Given the description of an element on the screen output the (x, y) to click on. 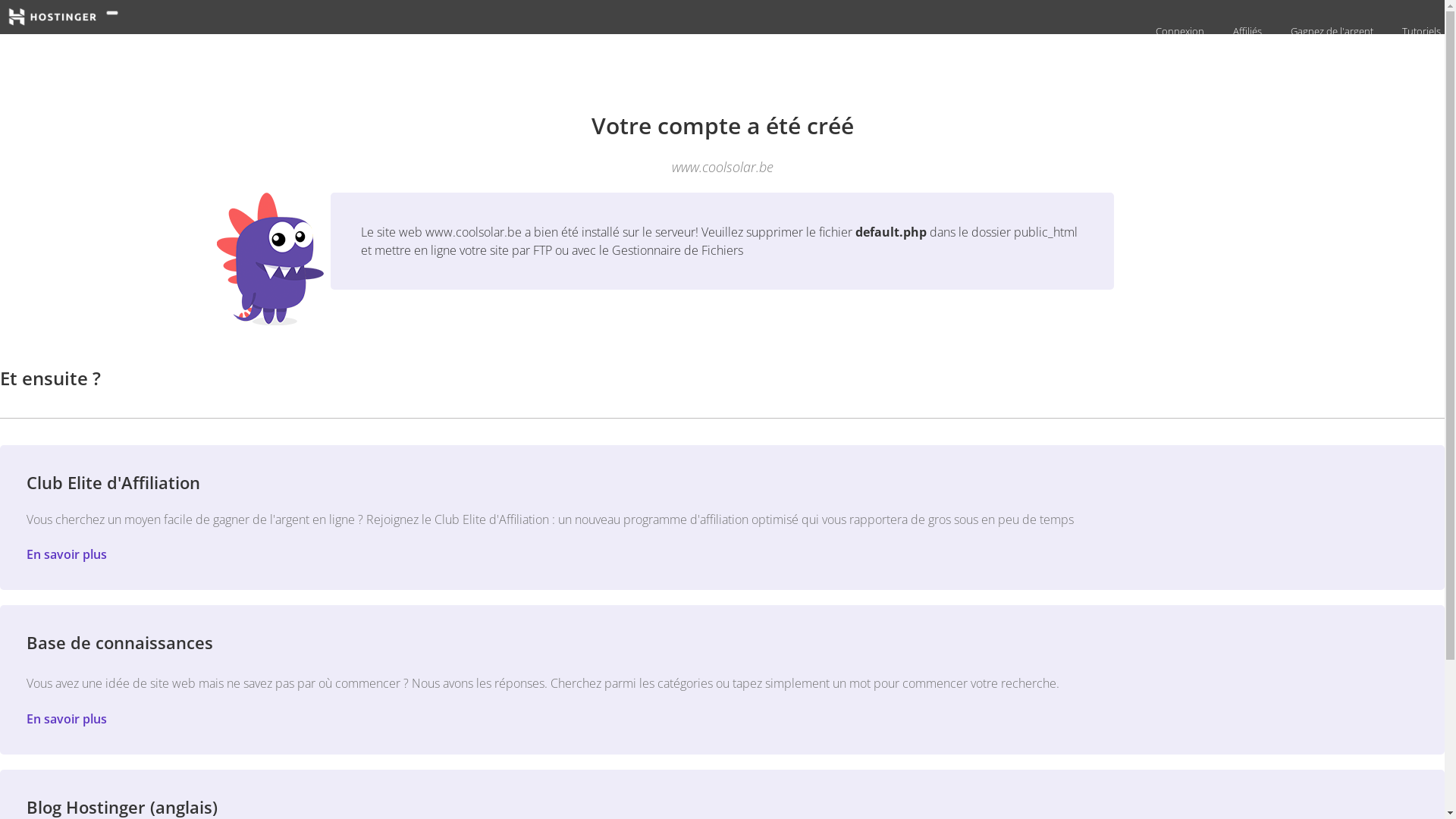
En savoir plus Element type: text (66, 718)
En savoir plus Element type: text (66, 554)
Tutoriels Element type: text (1419, 30)
Gagnez de l'argent Element type: text (1330, 30)
Connexion Element type: text (1178, 30)
